Given the description of an element on the screen output the (x, y) to click on. 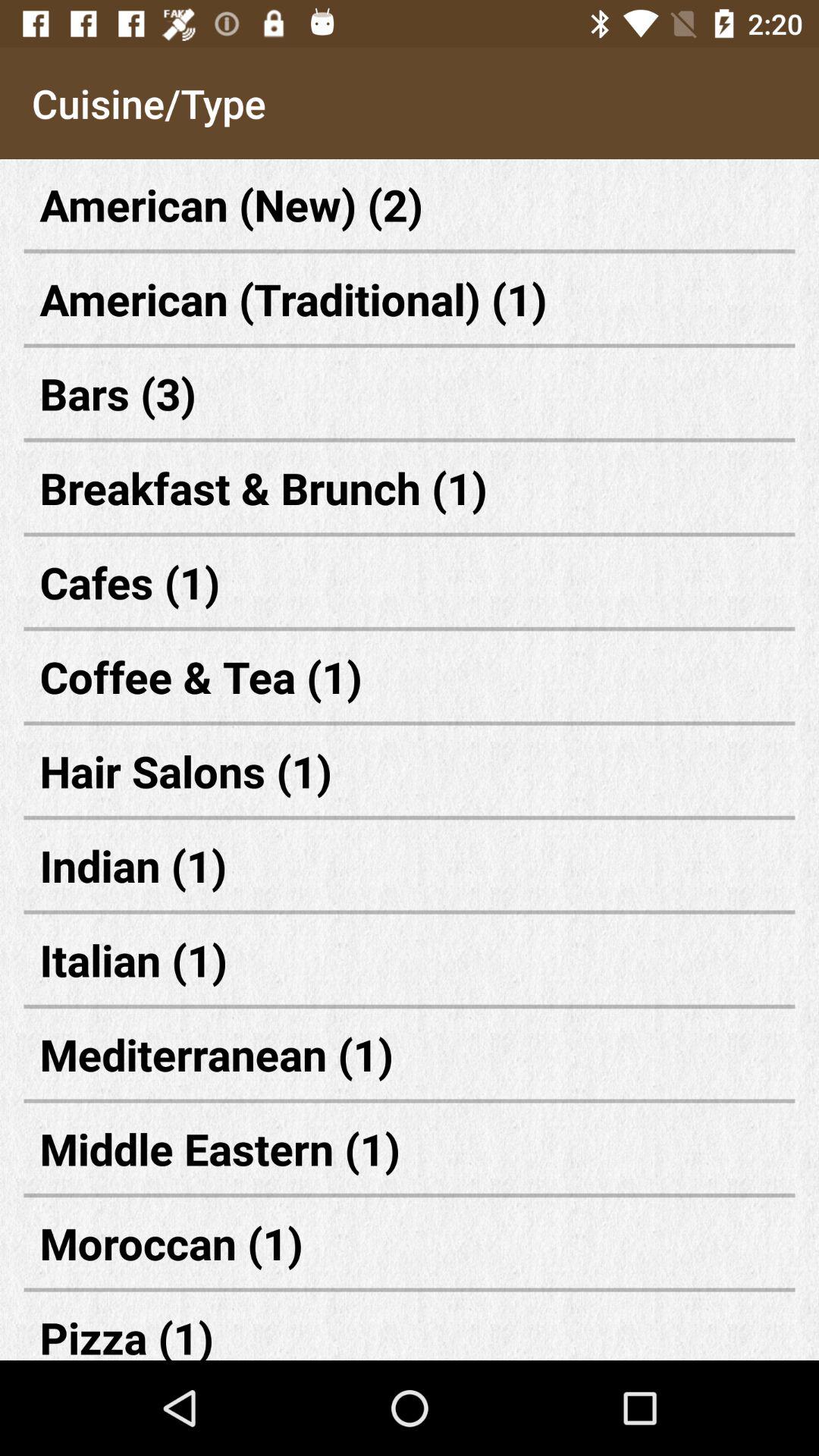
scroll until the indian (1) icon (409, 865)
